Given the description of an element on the screen output the (x, y) to click on. 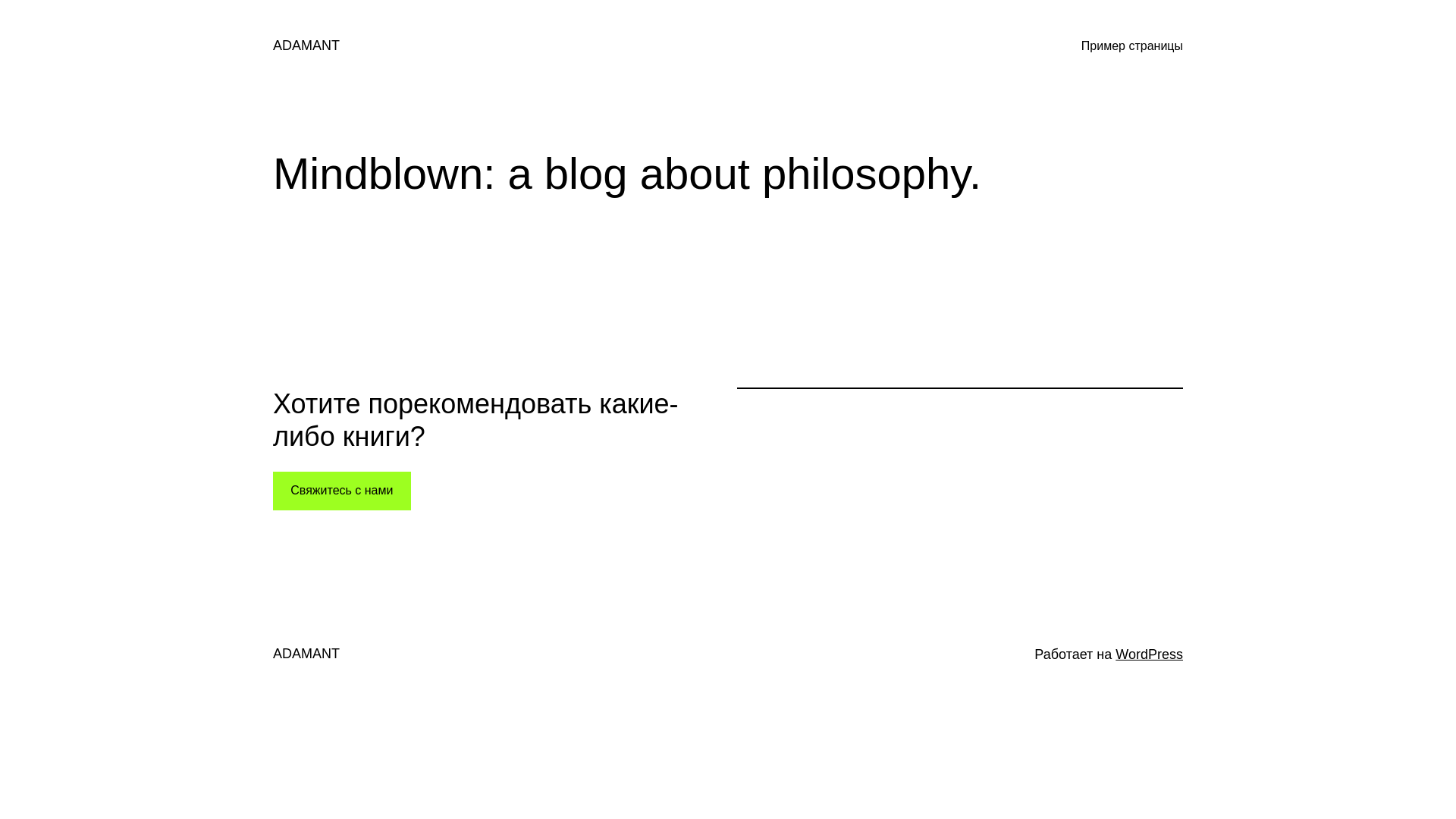
WordPress Element type: text (1149, 653)
ADAMANT Element type: text (306, 45)
ADAMANT Element type: text (306, 653)
